Given the description of an element on the screen output the (x, y) to click on. 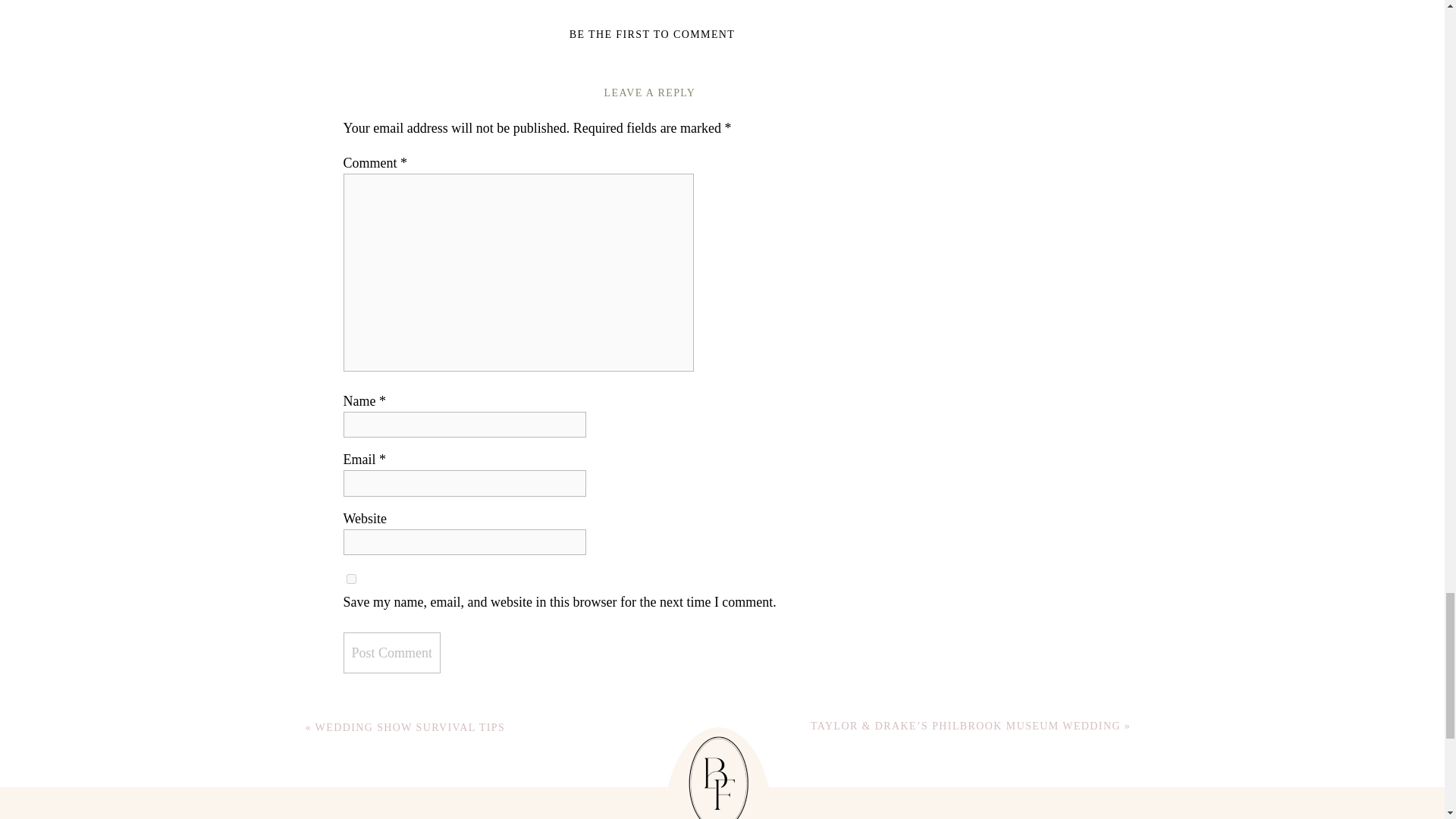
Post Comment (391, 652)
Post Comment (391, 652)
yes (350, 578)
WEDDING SHOW SURVIVAL TIPS (410, 727)
BE THE FIRST TO COMMENT (652, 34)
